Given the description of an element on the screen output the (x, y) to click on. 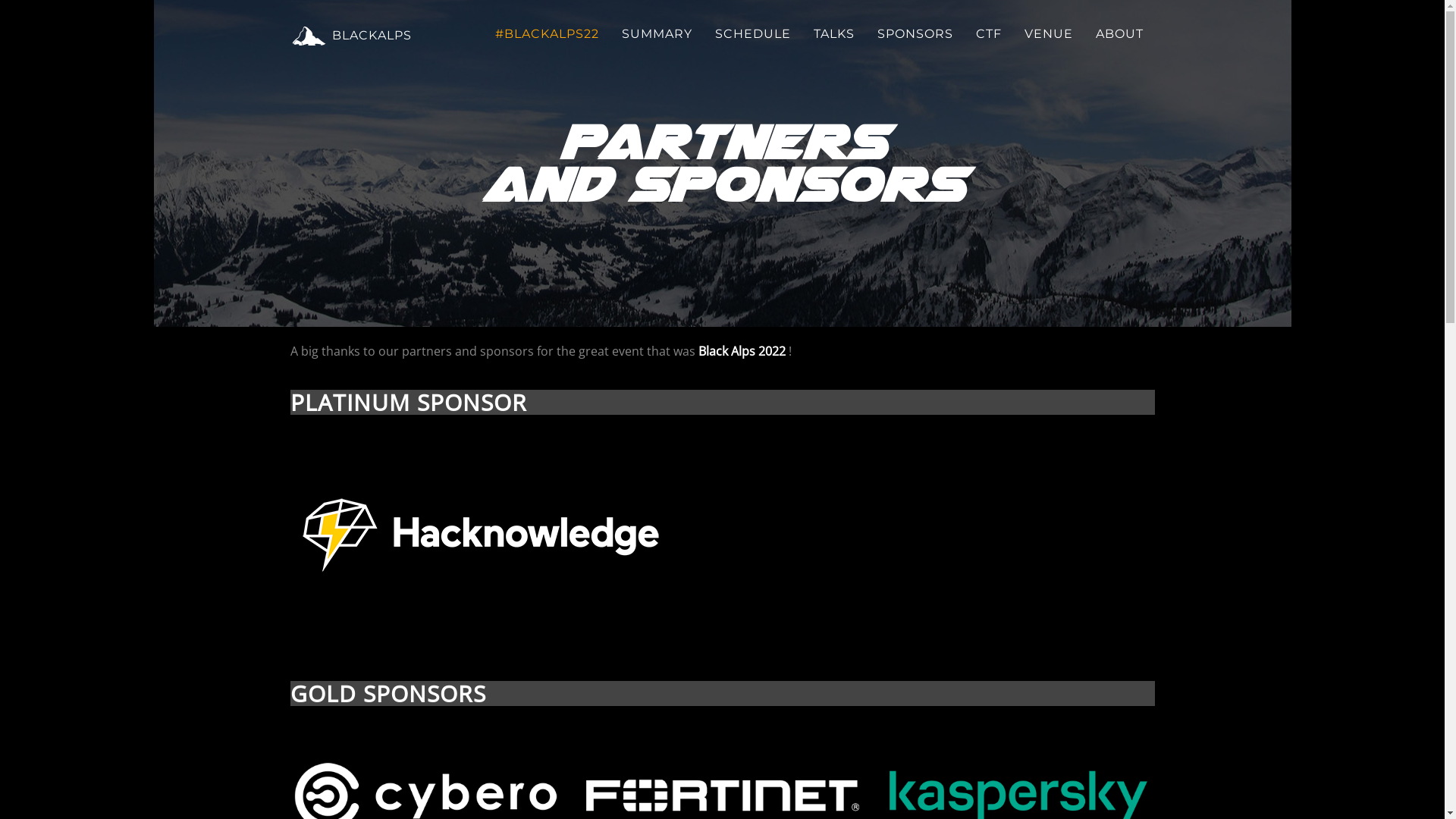
SCHEDULE Element type: text (752, 34)
CTF Element type: text (988, 34)
#BLACKALPS22 Element type: text (546, 34)
TALKS Element type: text (834, 34)
SUMMARY Element type: text (655, 34)
VENUE Element type: text (1048, 34)
BLACKALPS Element type: text (351, 34)
ABOUT Element type: text (1119, 34)
SPONSORS Element type: text (915, 34)
